Given the description of an element on the screen output the (x, y) to click on. 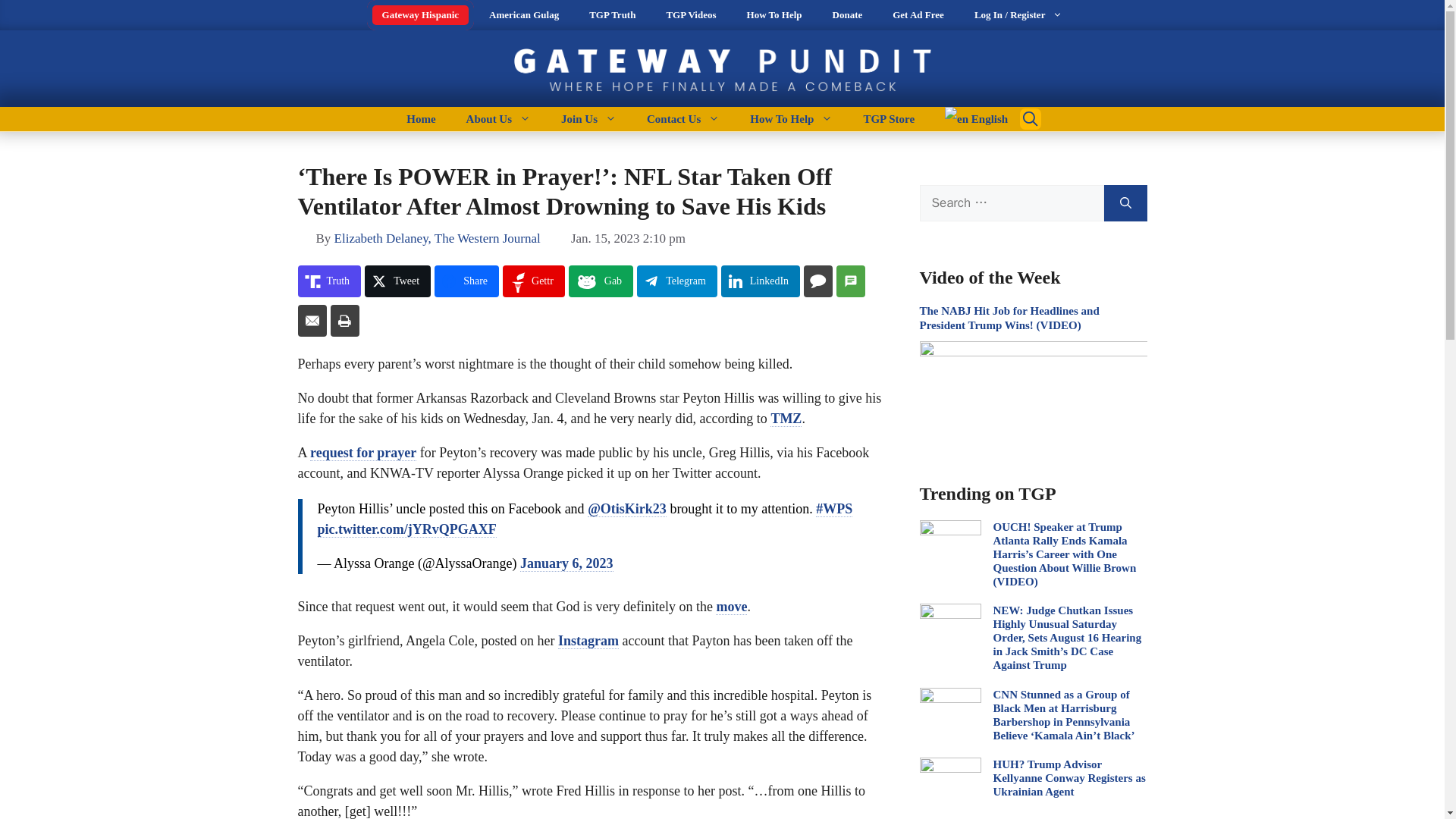
Get Ad Free (918, 15)
Share on Gab (601, 281)
Share on Tweet (397, 281)
How To Help (774, 15)
Contact Us (683, 119)
About Us (498, 119)
How To Help (791, 119)
View all posts by Elizabeth Delaney, The Western Journal (437, 237)
Share on LinkedIn (759, 281)
